Given the description of an element on the screen output the (x, y) to click on. 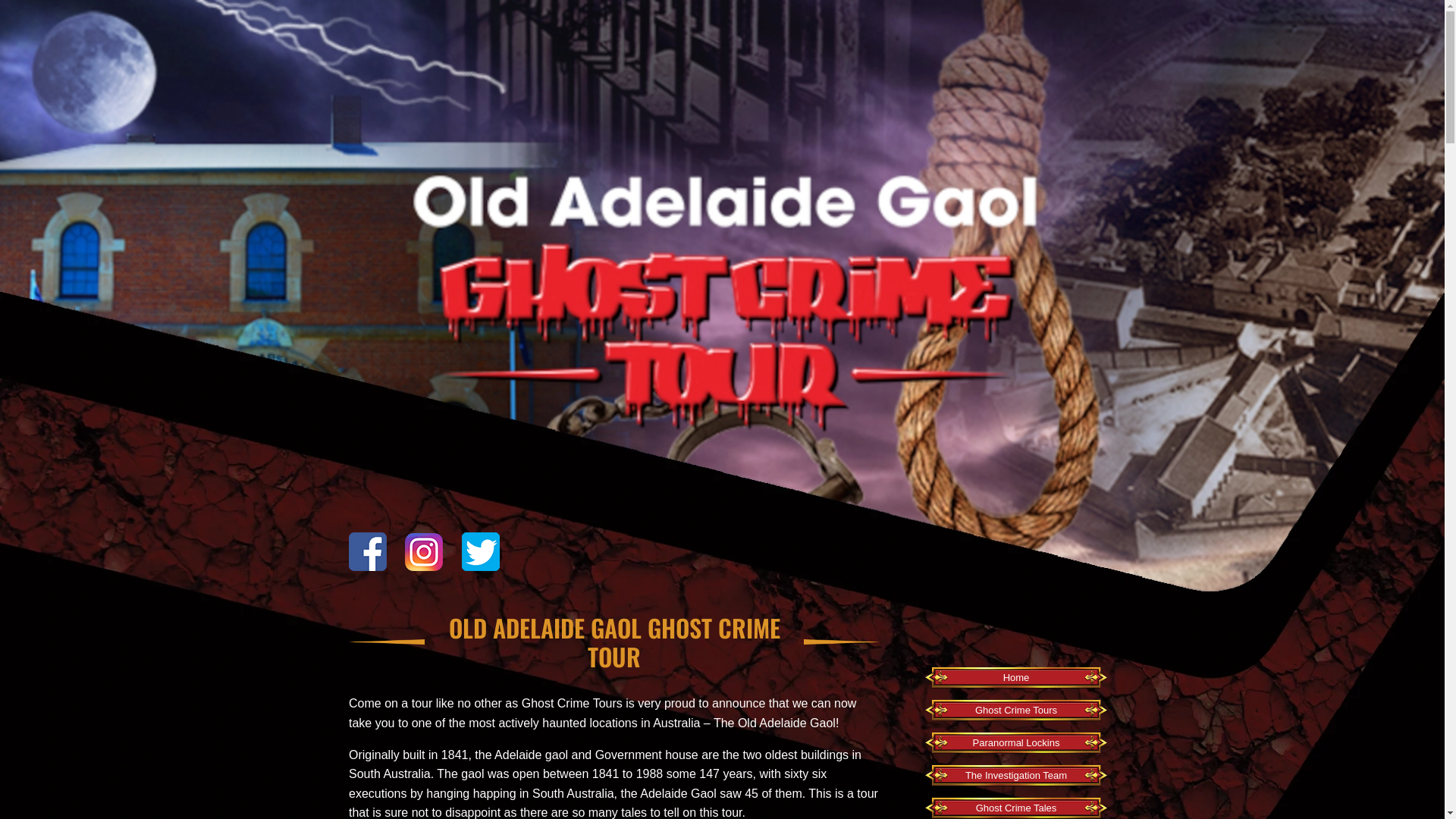
Paranormal Lockins Element type: text (1016, 743)
Ghost Crime Tours Element type: text (1016, 710)
Home Element type: text (1016, 678)
The Investigation Team Element type: text (1016, 775)
